Given the description of an element on the screen output the (x, y) to click on. 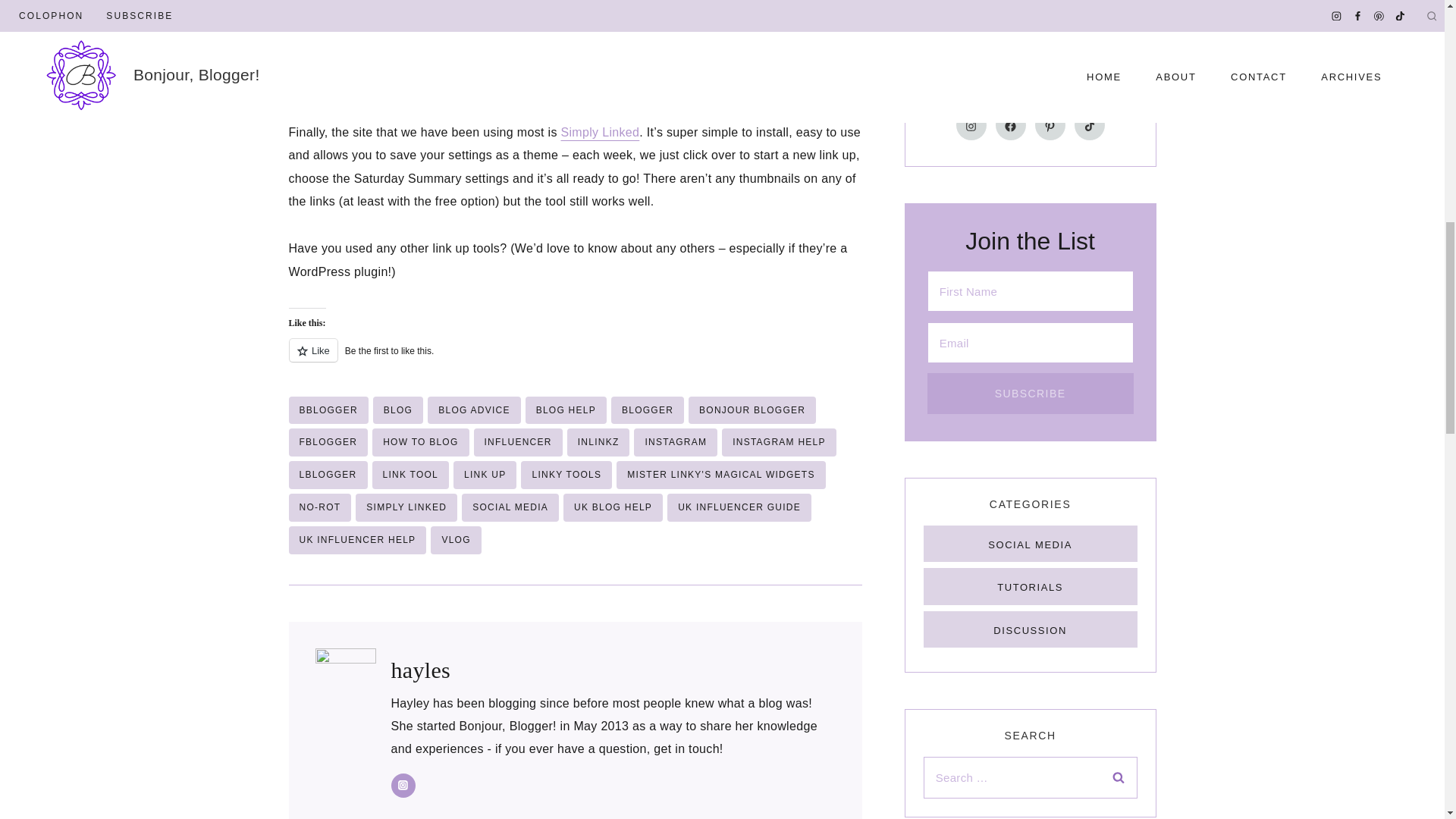
INSTAGRAM (675, 442)
INLINKZ (598, 442)
instagram (675, 442)
fblogger (328, 442)
blog advice (473, 410)
Subscribe (1030, 393)
HOW TO BLOG (420, 442)
BBLOGGER (328, 410)
INSTAGRAM HELP (778, 442)
blog (397, 410)
lblogger (327, 474)
BONJOUR BLOGGER (751, 410)
FBLOGGER (328, 442)
LINKY TOOLS (566, 474)
blog help (566, 410)
